Given the description of an element on the screen output the (x, y) to click on. 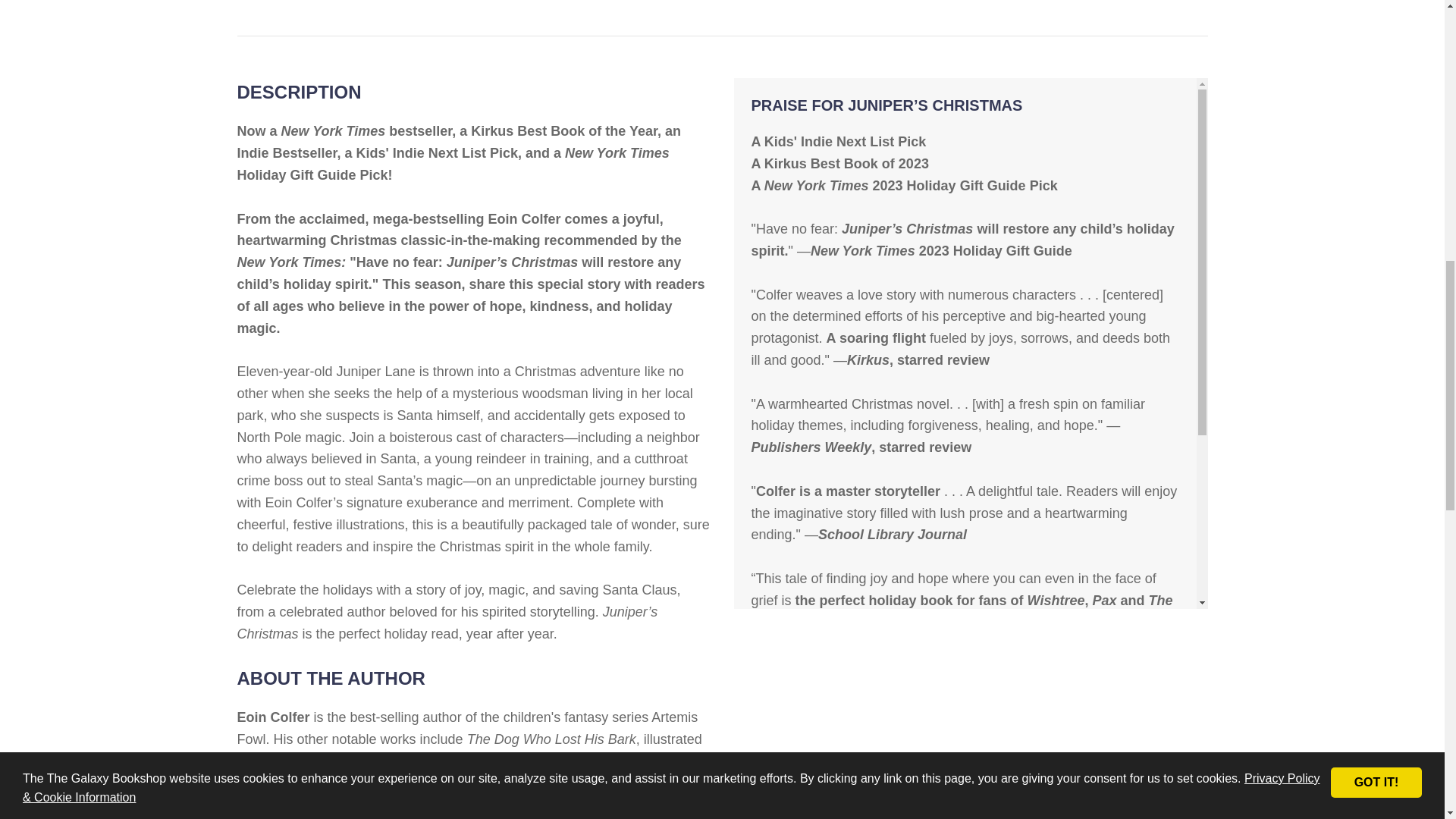
GOT IT! (1376, 55)
